Given the description of an element on the screen output the (x, y) to click on. 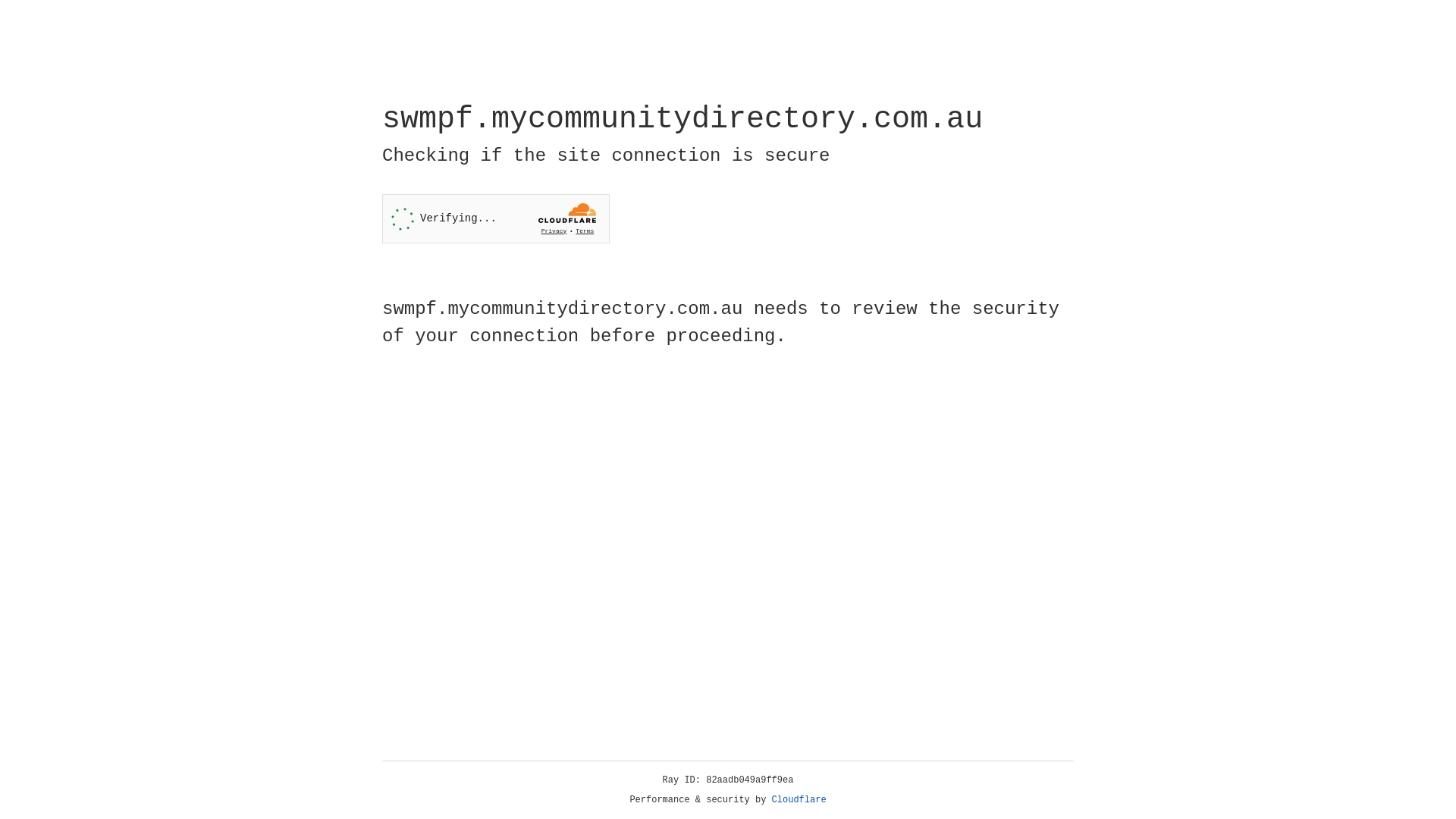
Widget containing a Cloudflare security challenge Element type: hover (495, 218)
Cloudflare Element type: text (798, 799)
